Given the description of an element on the screen output the (x, y) to click on. 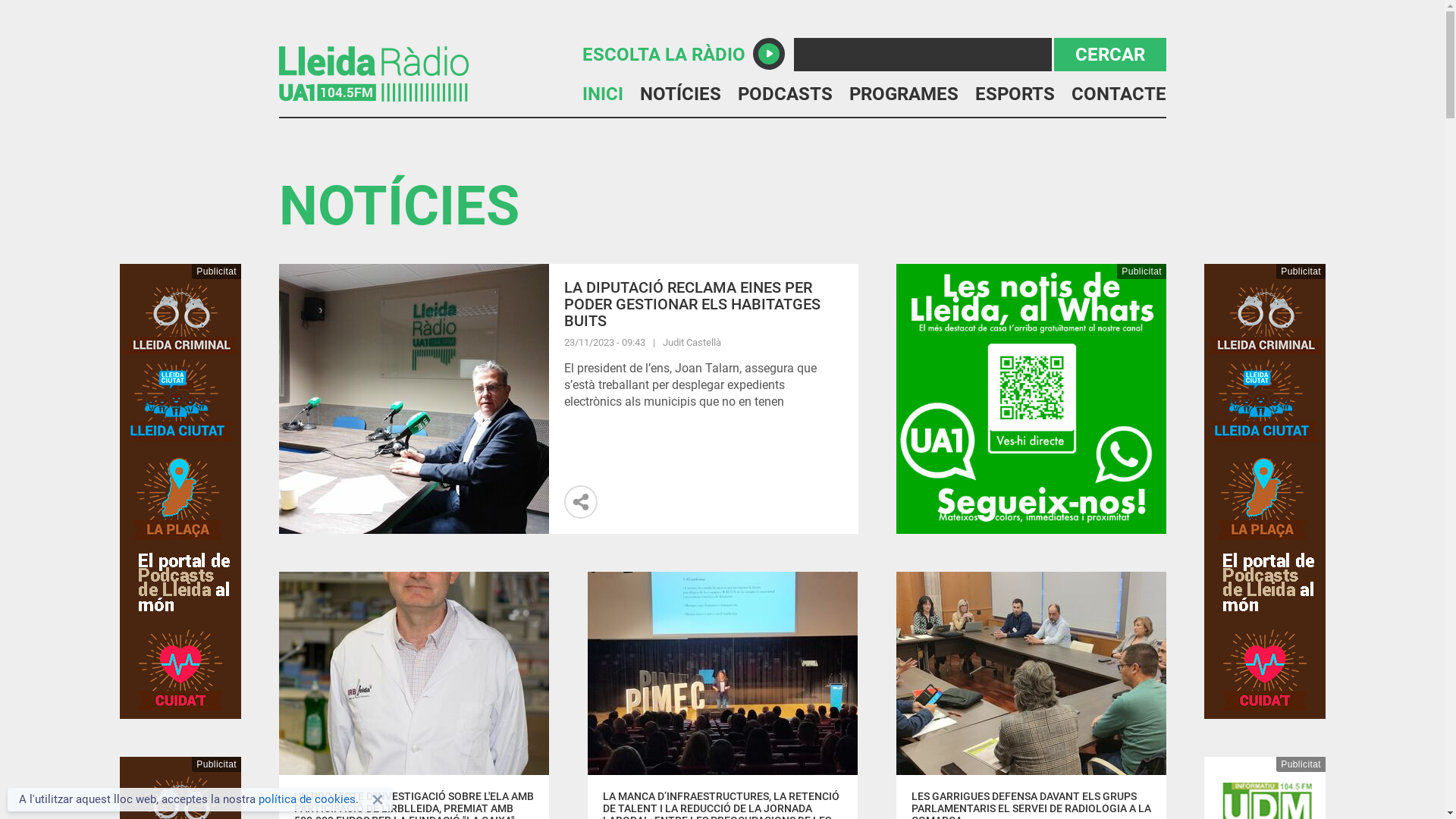
CERCAR Element type: text (1110, 54)
PODCASTS Element type: text (784, 93)
CONTACTE Element type: text (1117, 93)
ESPORTS Element type: text (1014, 93)
PROGRAMES Element type: text (903, 93)
INICI Element type: text (602, 93)
